Given the description of an element on the screen output the (x, y) to click on. 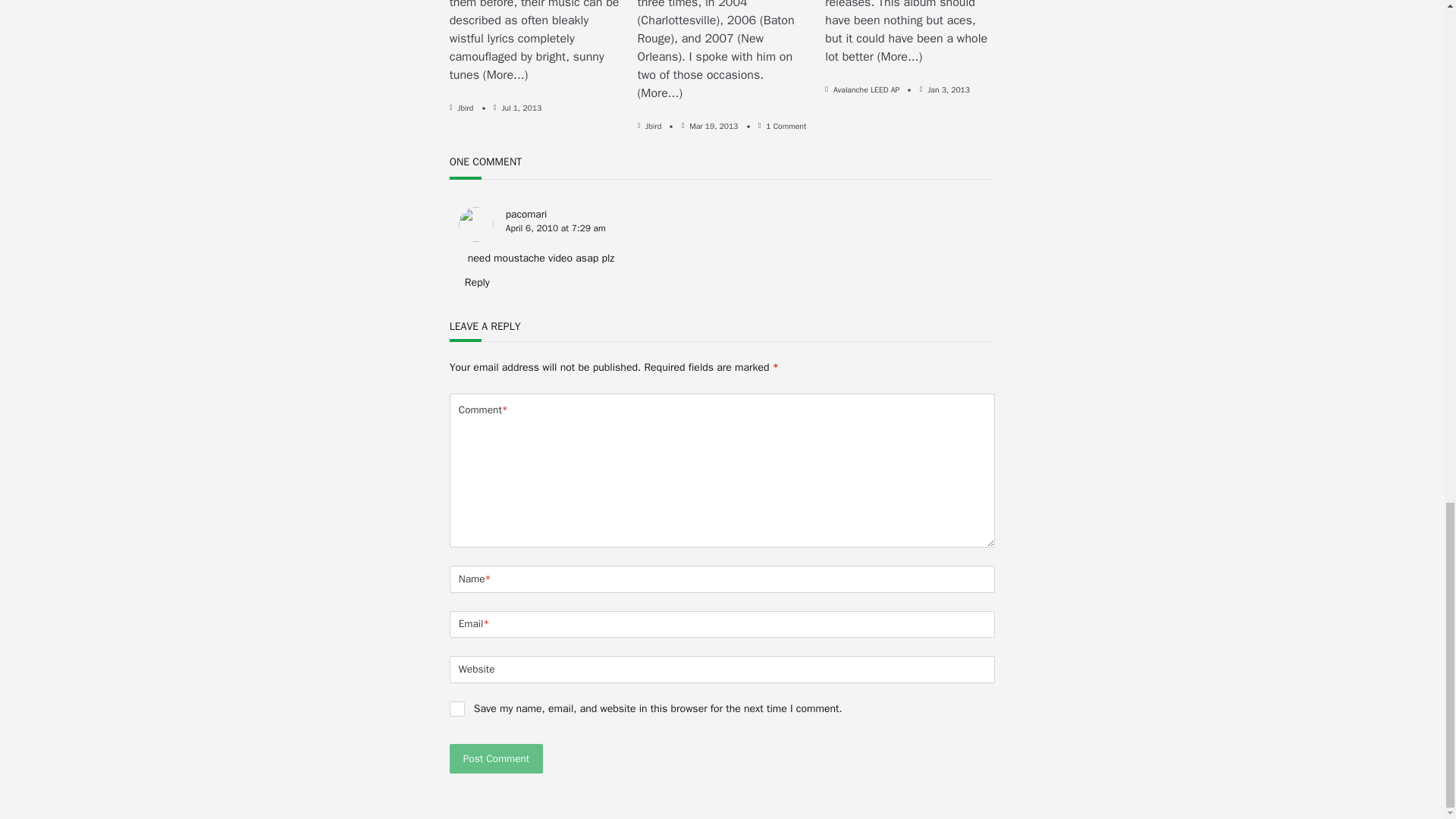
Jbird (653, 126)
Post Comment (496, 758)
April 6, 2010 at 7:29 am (555, 227)
Avalanche LEED AP (865, 90)
Jul 1, 2013 (520, 108)
yes (456, 708)
Reply (473, 282)
Jbird (465, 108)
Mar 19, 2013 (713, 126)
Jan 3, 2013 (948, 90)
